Given the description of an element on the screen output the (x, y) to click on. 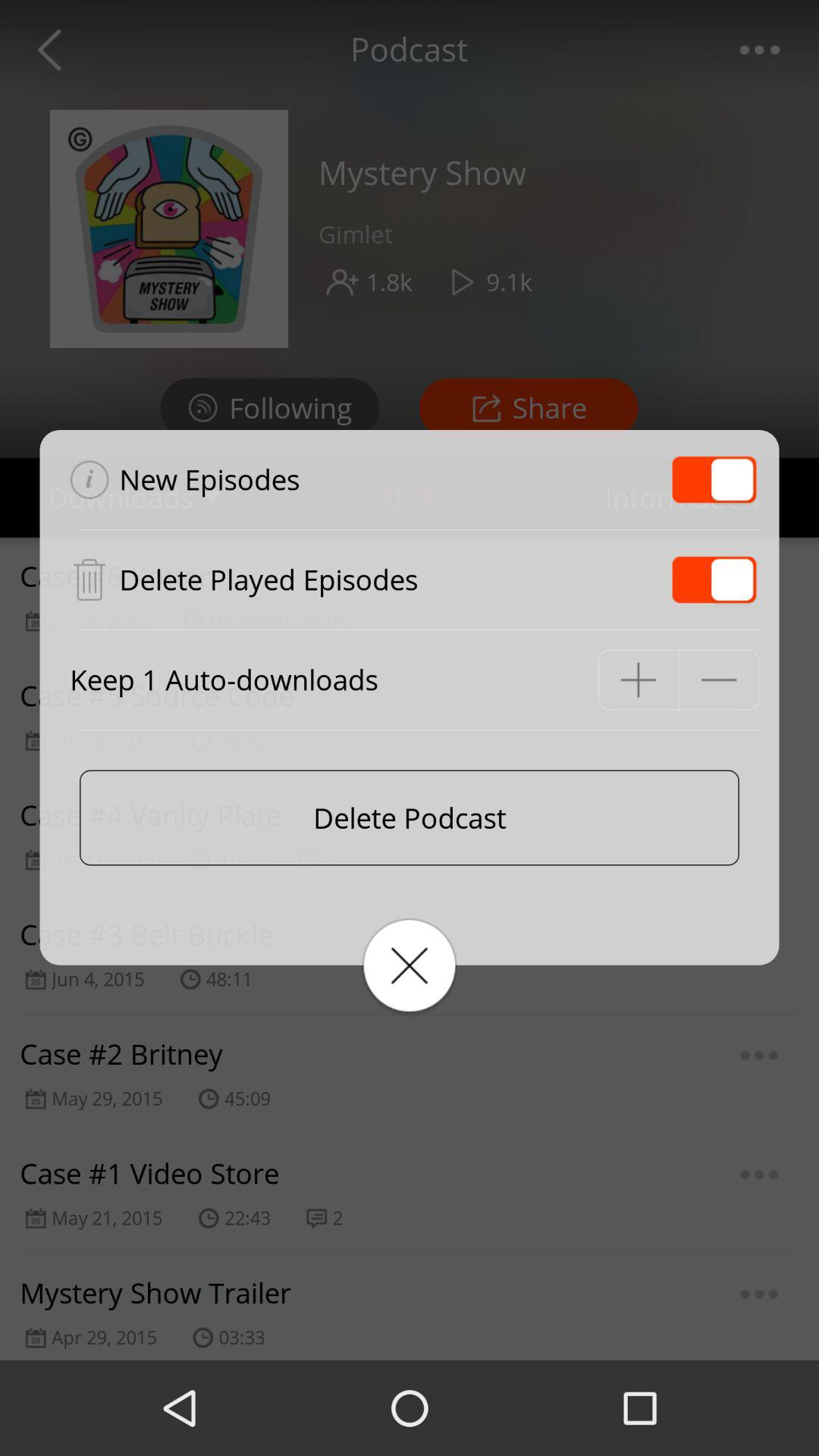
press the icon below delete podcast (409, 965)
